Given the description of an element on the screen output the (x, y) to click on. 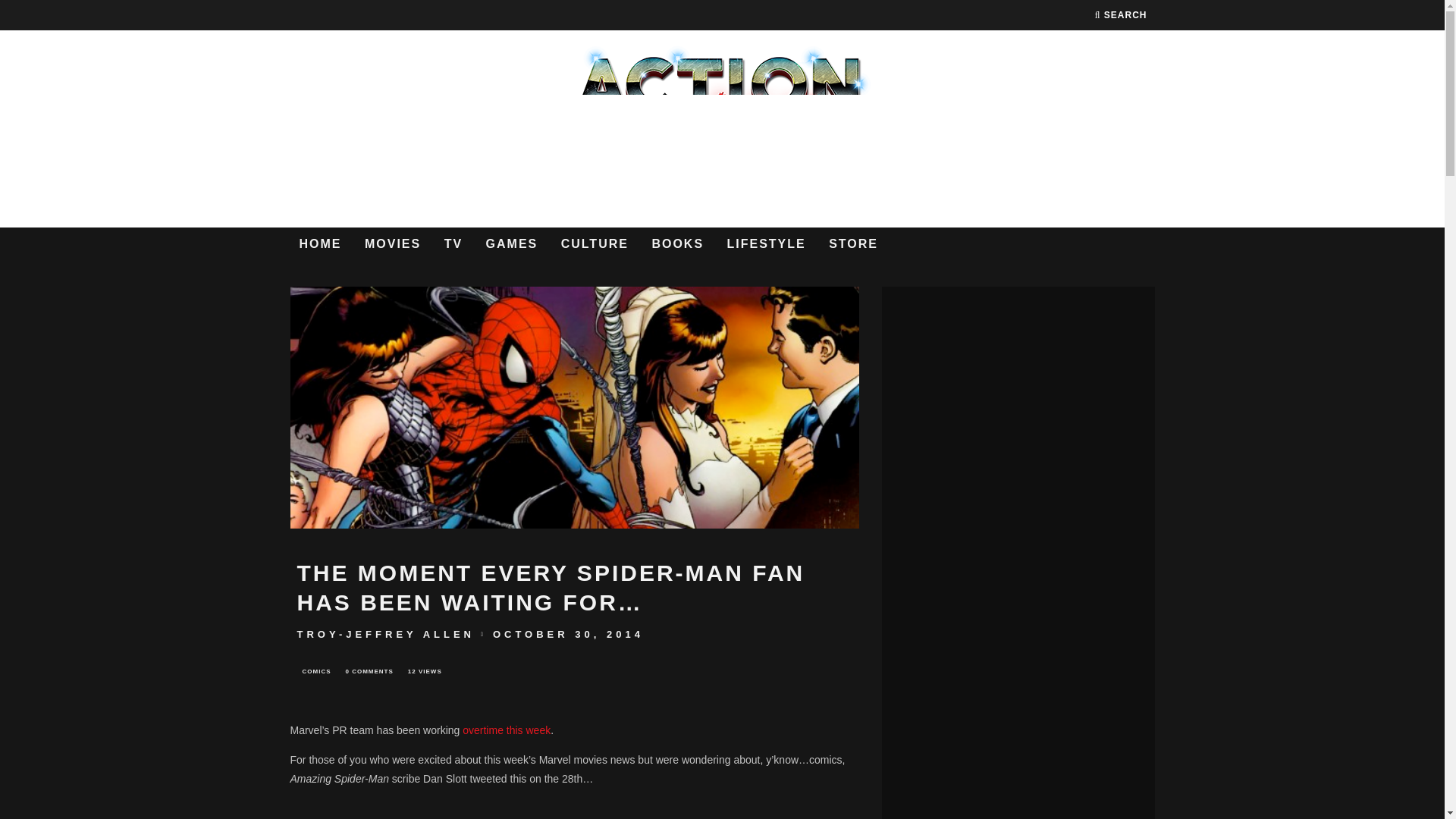
Log In (721, 422)
MOVIES (392, 244)
TV (453, 244)
BOOKS (677, 244)
Search (1120, 15)
View all posts in Comics (316, 671)
SEARCH (1120, 15)
HOME (319, 244)
overtime this week (506, 729)
0 COMMENTS (368, 671)
